Given the description of an element on the screen output the (x, y) to click on. 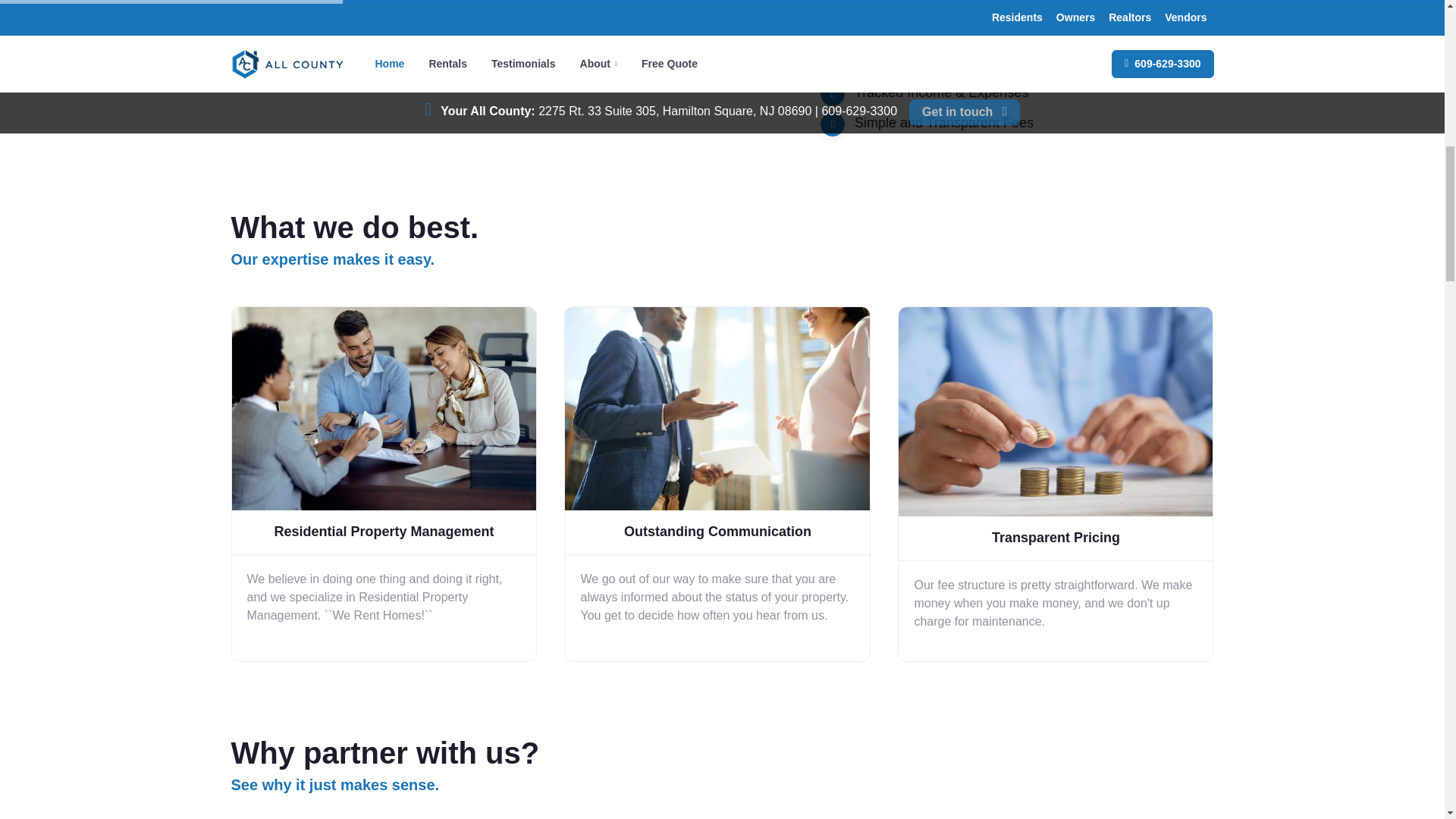
Managed Tenant Relationships (948, 61)
Maintained Rental Property (937, 4)
Learn more (285, 56)
Avoidance of Costly Mistakes (943, 31)
